Given the description of an element on the screen output the (x, y) to click on. 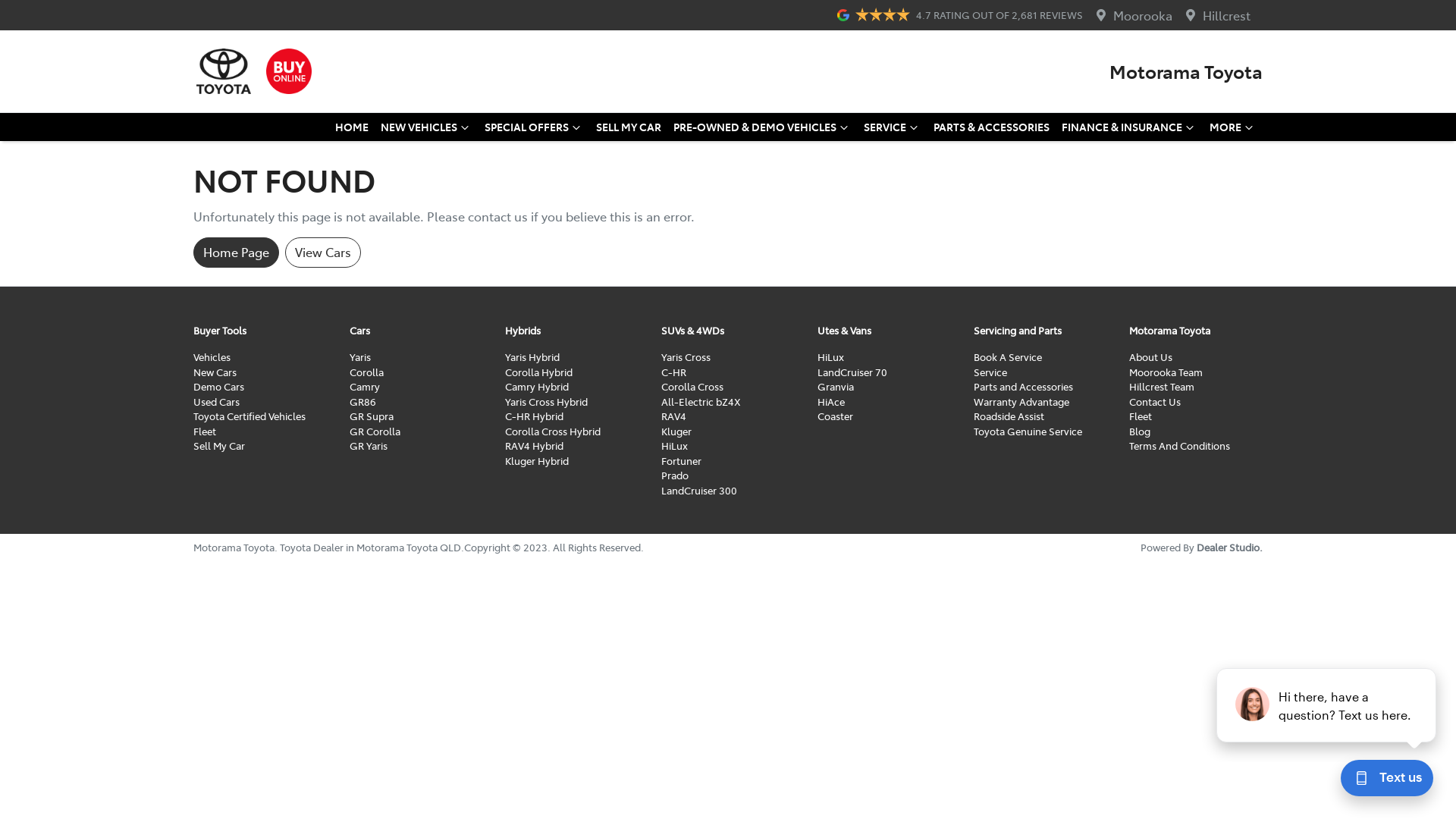
About Us Element type: text (1150, 356)
Prado Element type: text (674, 474)
Toyota Genuine Service Element type: text (1027, 430)
NEW VEHICLES Element type: text (426, 126)
HiLux Element type: text (830, 356)
C-HR Hybrid Element type: text (534, 415)
GR Corolla Element type: text (374, 430)
HiAce Element type: text (830, 401)
Warranty Advantage Element type: text (1021, 401)
SELL MY CAR Element type: text (628, 126)
All-Electric bZ4X Element type: text (700, 401)
Granvia Element type: text (835, 385)
Vehicles Element type: text (211, 356)
Coaster Element type: text (835, 415)
Camry Element type: text (364, 385)
Sell My Car Element type: text (218, 445)
Home Page Element type: text (236, 252)
Dealer Studio. Element type: text (1229, 546)
Yaris Cross Hybrid Element type: text (546, 401)
Corolla Cross Element type: text (692, 385)
Yaris Cross Element type: text (685, 356)
Service Element type: text (990, 371)
Roadside Assist Element type: text (1008, 415)
MORE Element type: text (1232, 126)
Moorooka Team Element type: text (1165, 371)
PARTS & ACCESSORIES Element type: text (991, 126)
GR Supra Element type: text (371, 415)
Camry Hybrid Element type: text (536, 385)
RAV4 Hybrid Element type: text (534, 445)
FINANCE & INSURANCE Element type: text (1129, 126)
Motorama Toyota Element type: text (1185, 71)
Hillcrest Element type: text (1226, 14)
LandCruiser 70 Element type: text (852, 371)
Hillcrest Team Element type: text (1161, 385)
New Cars Element type: text (214, 371)
SPECIAL OFFERS Element type: text (533, 126)
PRE-OWNED & DEMO VEHICLES Element type: text (762, 126)
GR Yaris Element type: text (368, 445)
Terms And Conditions Element type: text (1179, 445)
Parts and Accessories Element type: text (1023, 385)
Contact Us Element type: text (1154, 401)
HOME Element type: text (351, 126)
Toyota Certified Vehicles Element type: text (249, 415)
Yaris Hybrid Element type: text (532, 356)
Book A Service Element type: text (1007, 356)
HiLux Element type: text (674, 445)
LandCruiser 300 Element type: text (699, 489)
RAV4 Element type: text (673, 415)
Fortuner Element type: text (681, 460)
Moorooka Element type: text (1142, 14)
SERVICE Element type: text (892, 126)
Fleet Element type: text (1140, 415)
Yaris Element type: text (359, 356)
Kluger Element type: text (676, 430)
Demo Cars Element type: text (218, 385)
Corolla Hybrid Element type: text (538, 371)
Used Cars Element type: text (216, 401)
Kluger Hybrid Element type: text (536, 460)
GR86 Element type: text (362, 401)
Blog Element type: text (1139, 430)
Corolla Cross Hybrid Element type: text (552, 430)
C-HR Element type: text (673, 371)
View Cars Element type: text (322, 252)
Fleet Element type: text (204, 430)
Corolla Element type: text (366, 371)
